Given the description of an element on the screen output the (x, y) to click on. 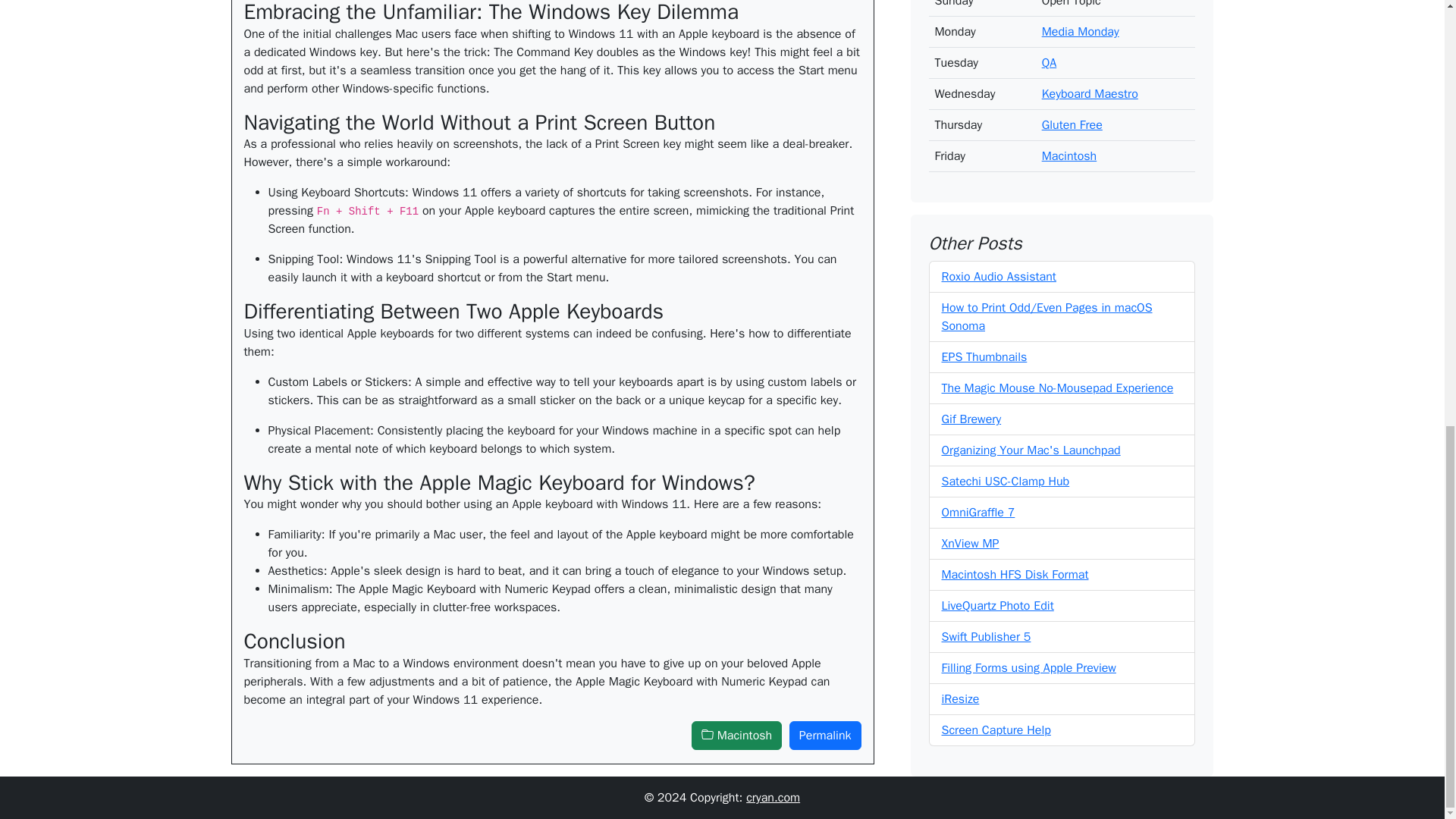
Macintosh (736, 735)
EPS Thumbnails (984, 83)
The Magic Mouse No-Mousepad Experience (1057, 114)
LiveQuartz Photo Edit (998, 331)
cryan.com (772, 797)
iResize (960, 425)
Screen Capture Help (996, 456)
Satechi USC-Clamp Hub (1006, 207)
Filling Forms using Apple Preview (1029, 394)
Swift Publisher 5 (986, 363)
